Given the description of an element on the screen output the (x, y) to click on. 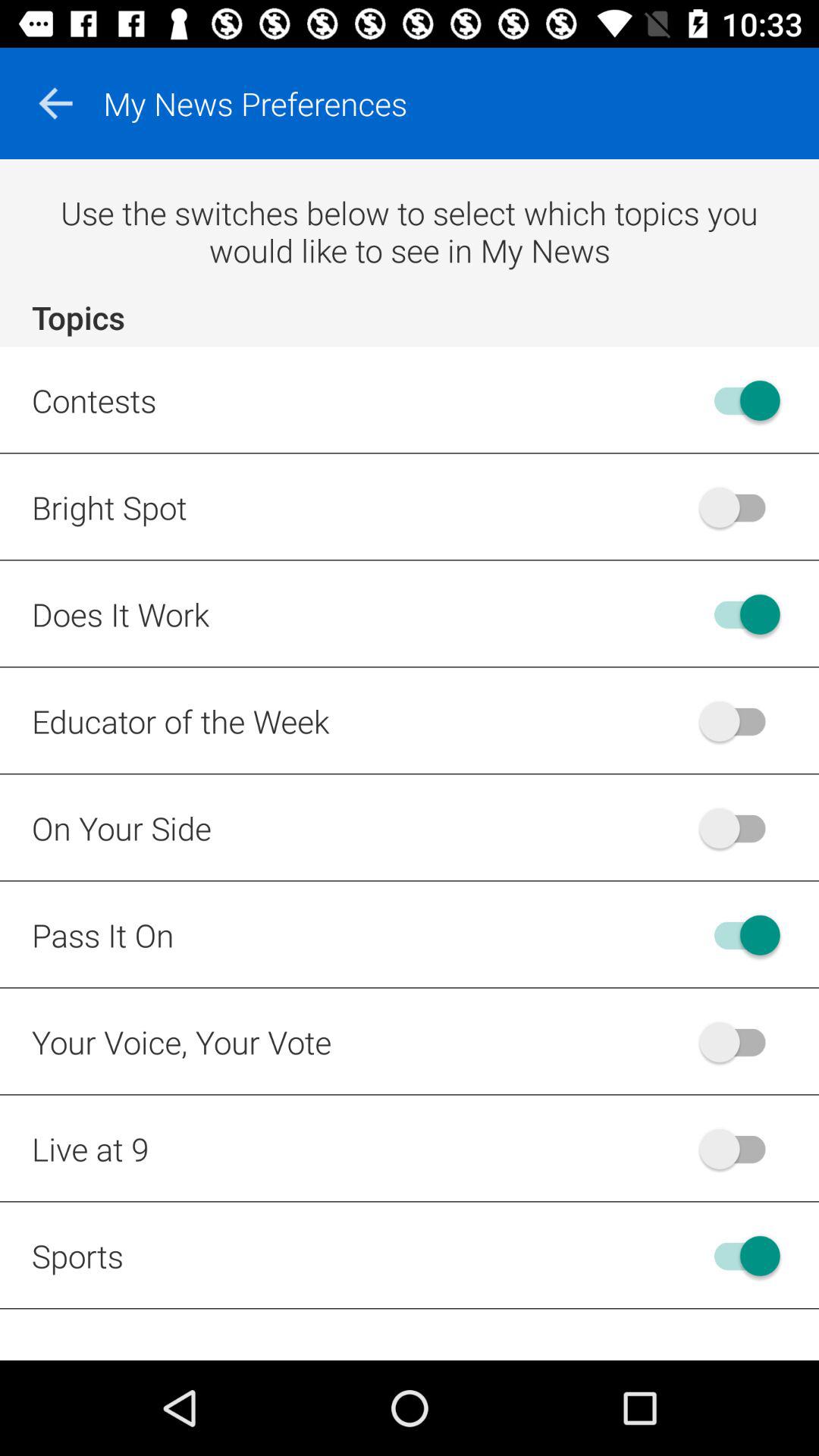
your voice your vote (739, 1041)
